Given the description of an element on the screen output the (x, y) to click on. 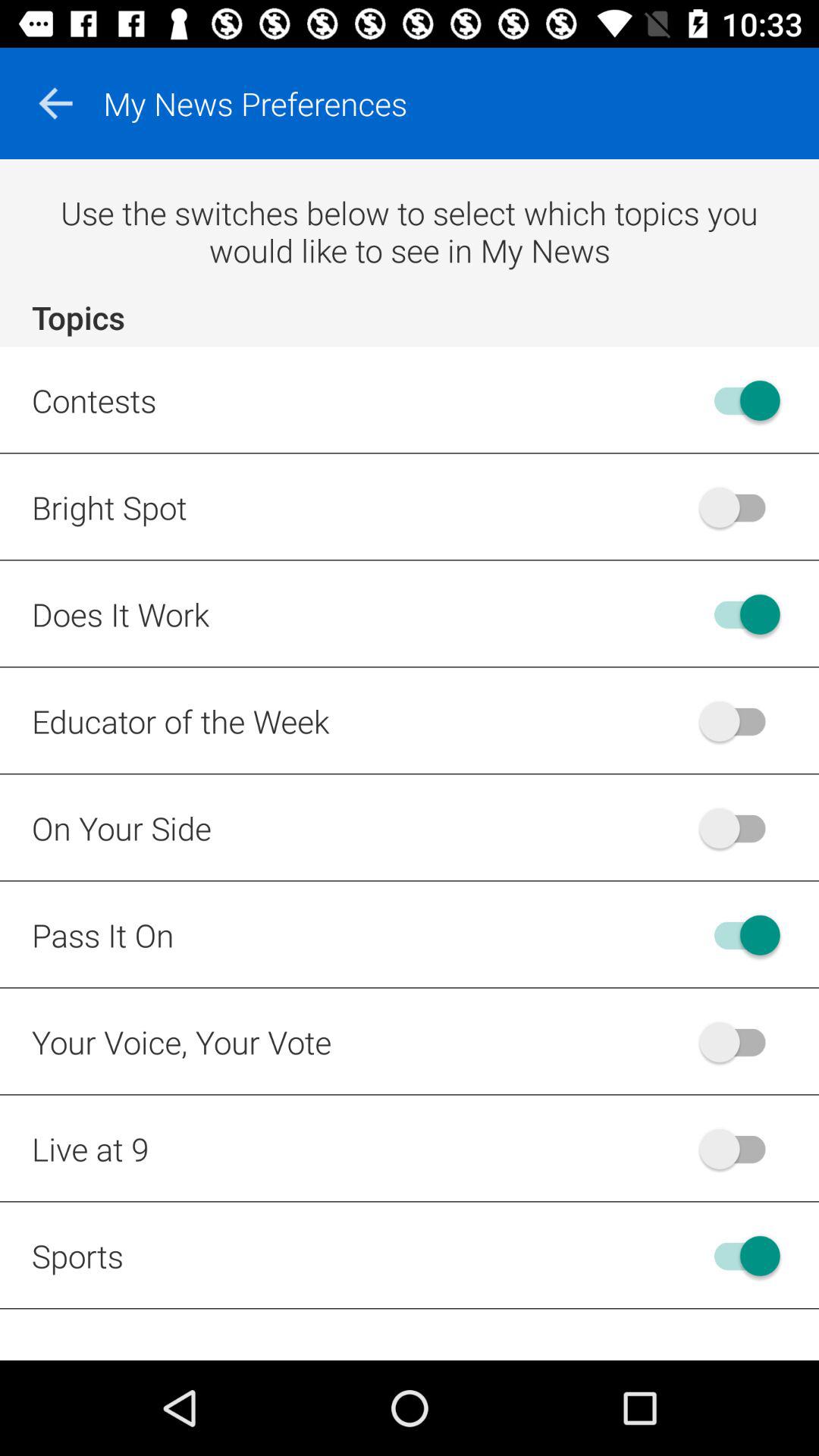
your voice your vote (739, 1041)
